Given the description of an element on the screen output the (x, y) to click on. 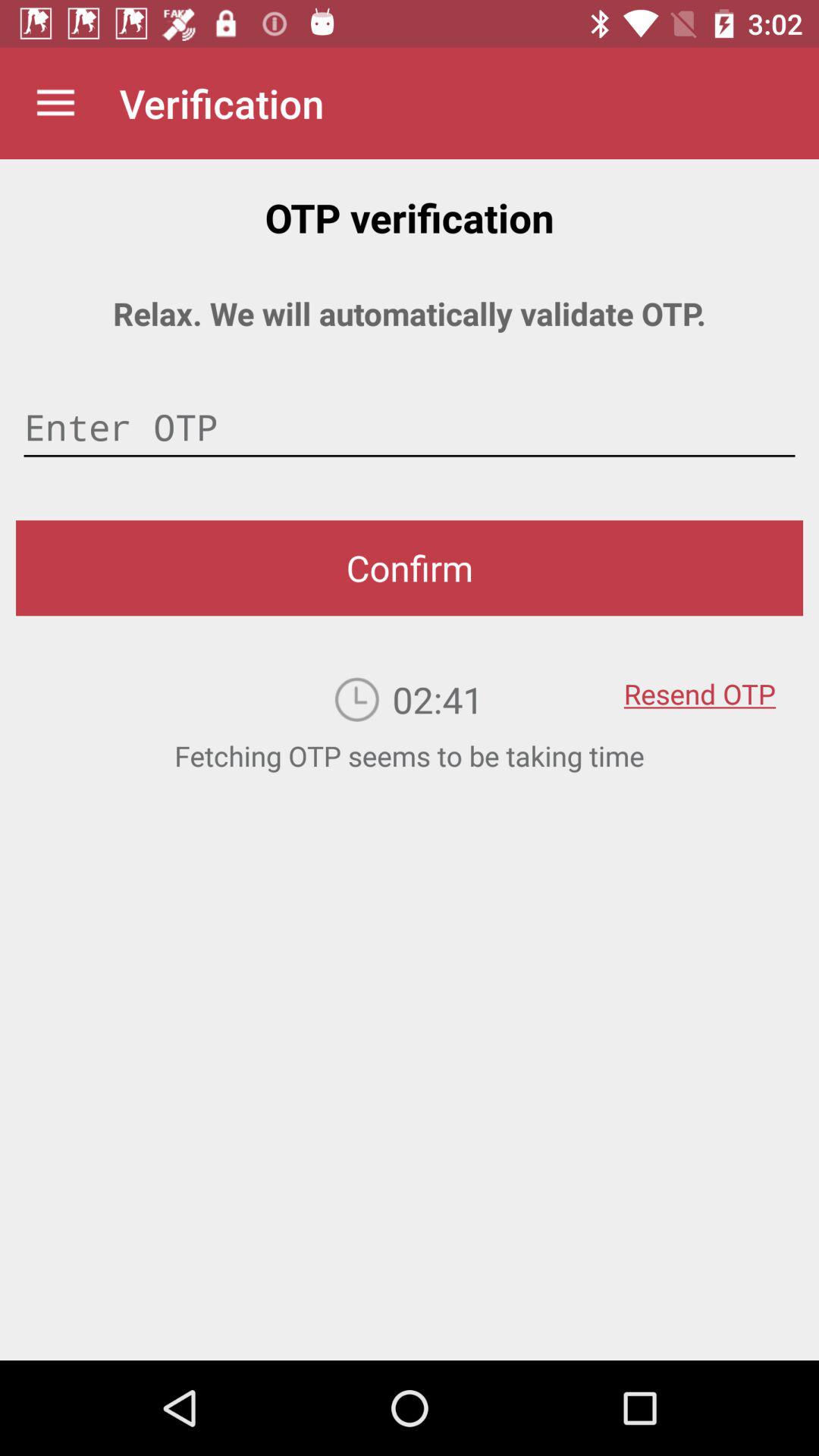
turn on the item to the left of the verification icon (55, 103)
